Given the description of an element on the screen output the (x, y) to click on. 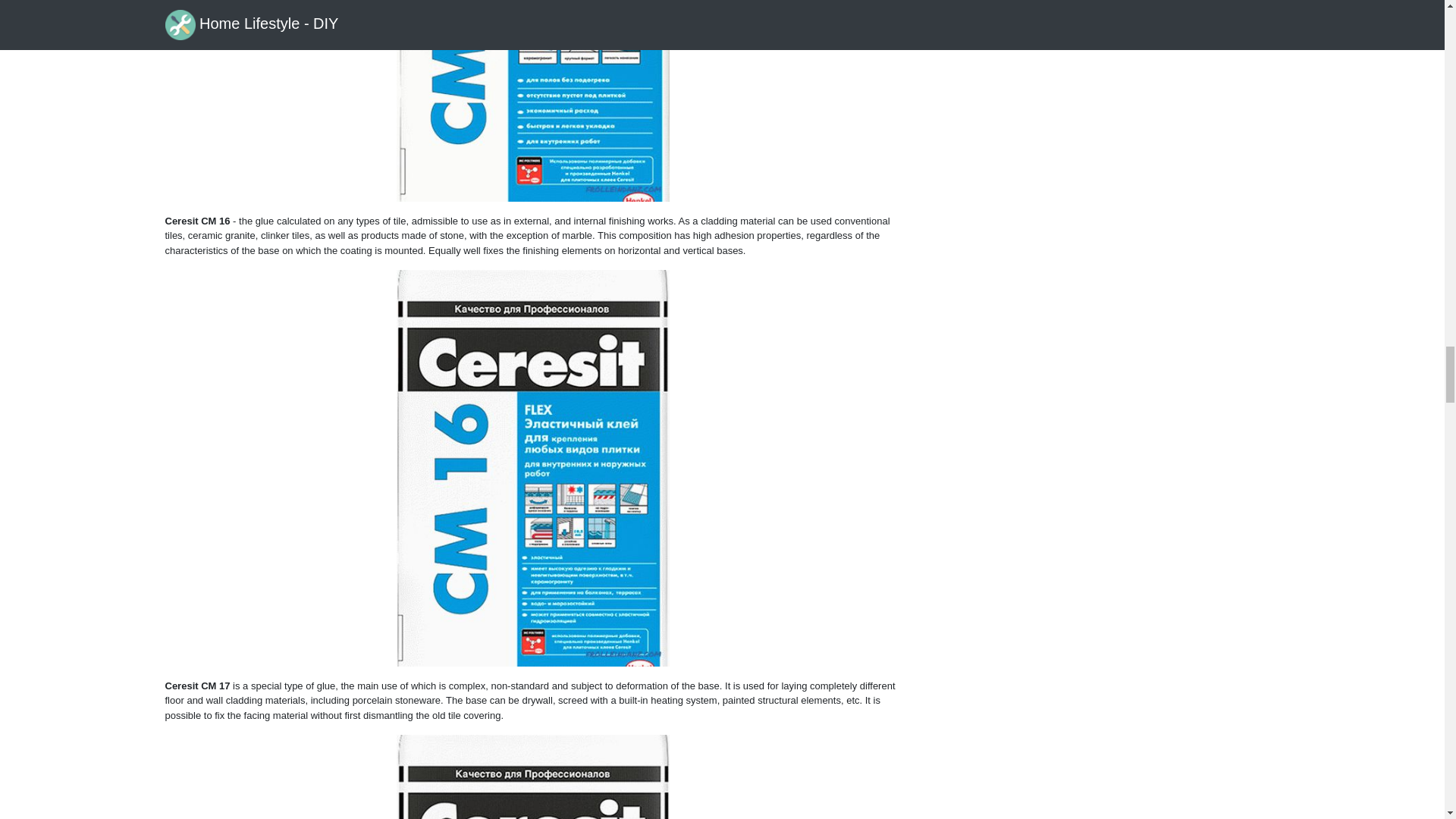
Glue for porcelain tiles - which one is better to choose (532, 100)
Glue for porcelain tiles - which one is better to choose (532, 776)
